Given the description of an element on the screen output the (x, y) to click on. 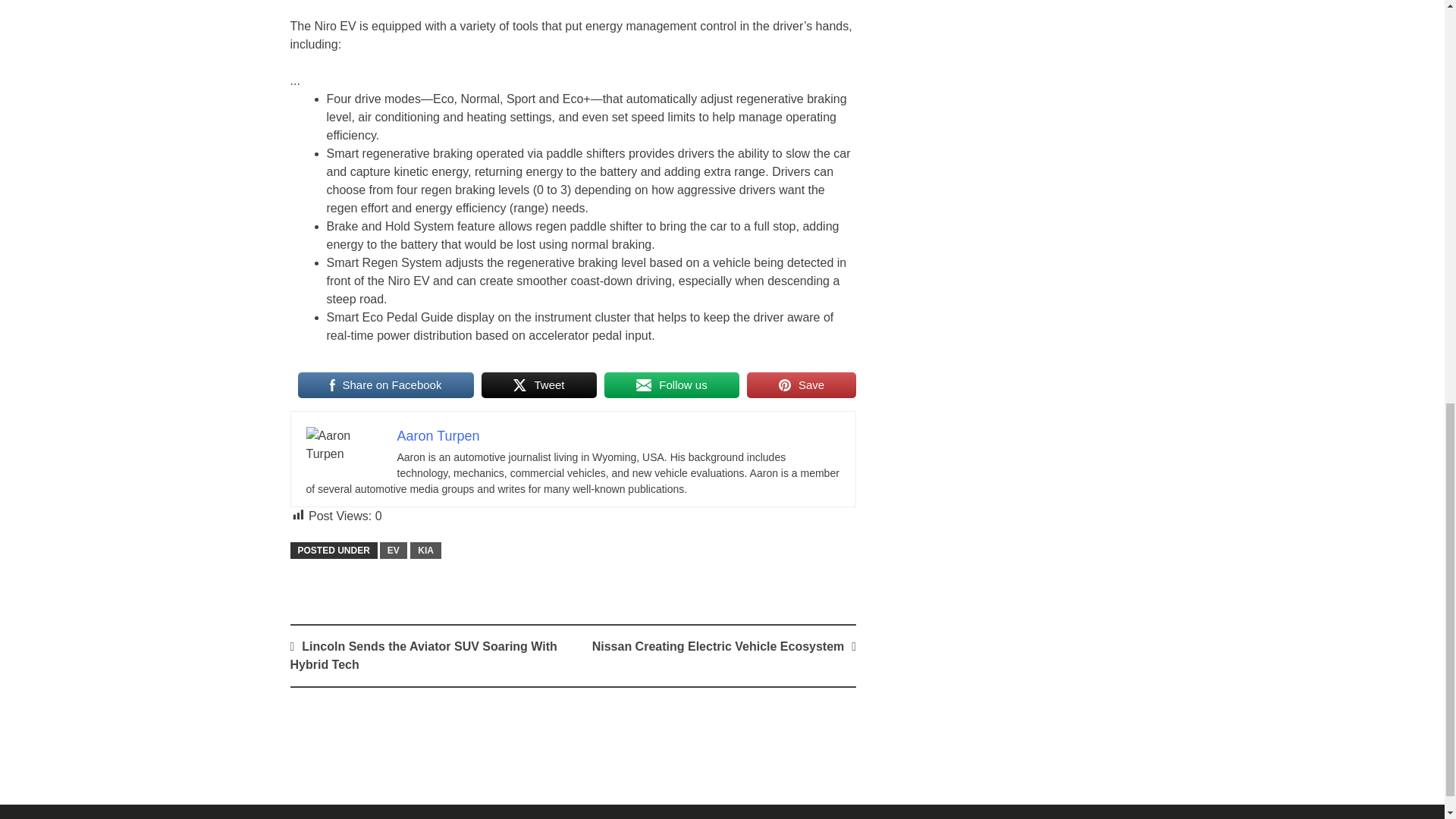
KIA (425, 550)
Nissan Creating Electric Vehicle Ecosystem (718, 645)
ThemezHut (1123, 818)
Aaron Turpen (438, 435)
Share on Facebook (385, 385)
WordPress (966, 818)
WordPress (966, 818)
EV (393, 550)
Follow us (671, 385)
Lincoln Sends the Aviator SUV Soaring With Hybrid Tech (422, 654)
Save (801, 385)
Tweet (538, 385)
